Given the description of an element on the screen output the (x, y) to click on. 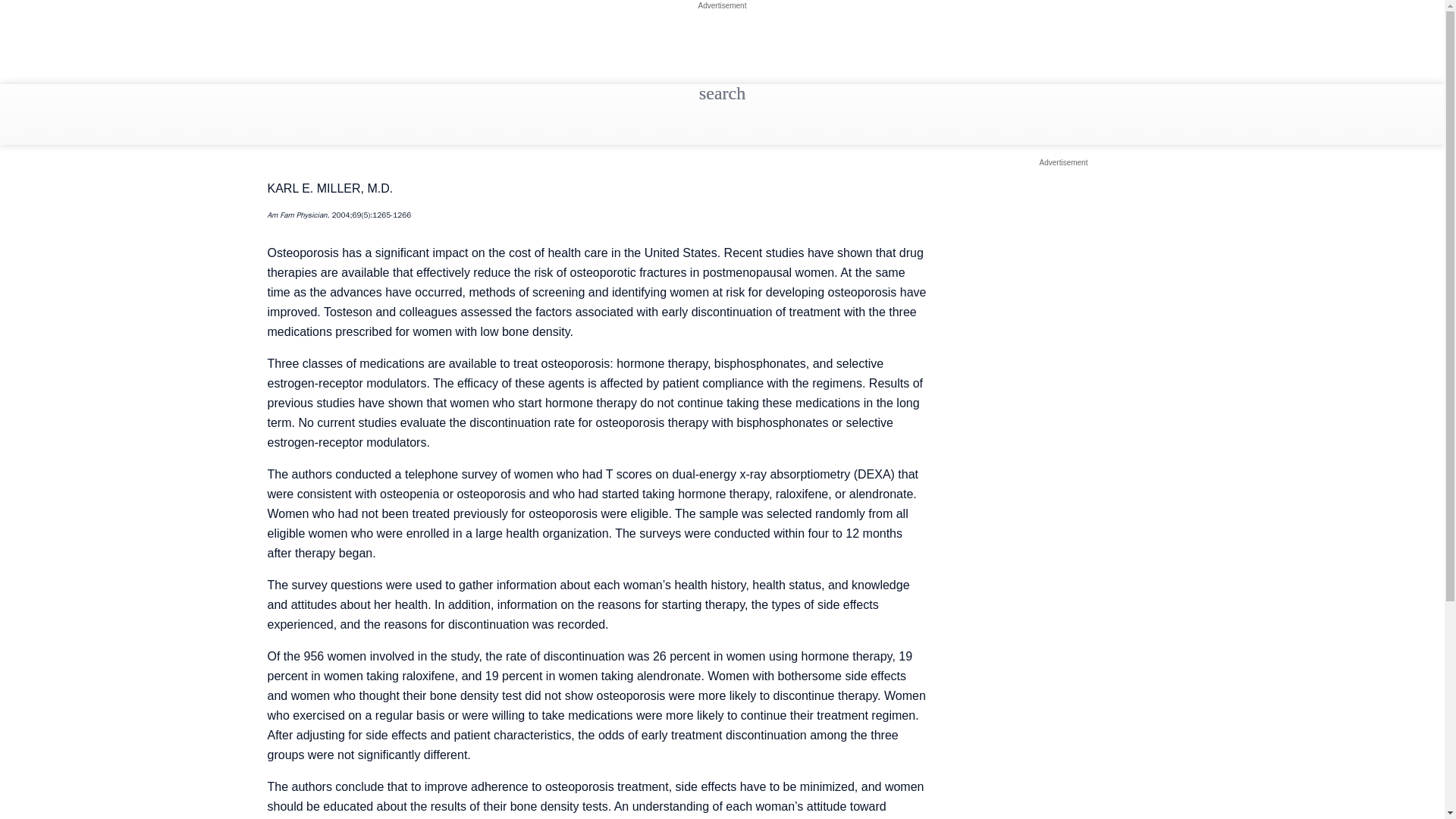
Advertisement (1063, 162)
3rd party ad content (721, 49)
Advertisement (722, 5)
